Given the description of an element on the screen output the (x, y) to click on. 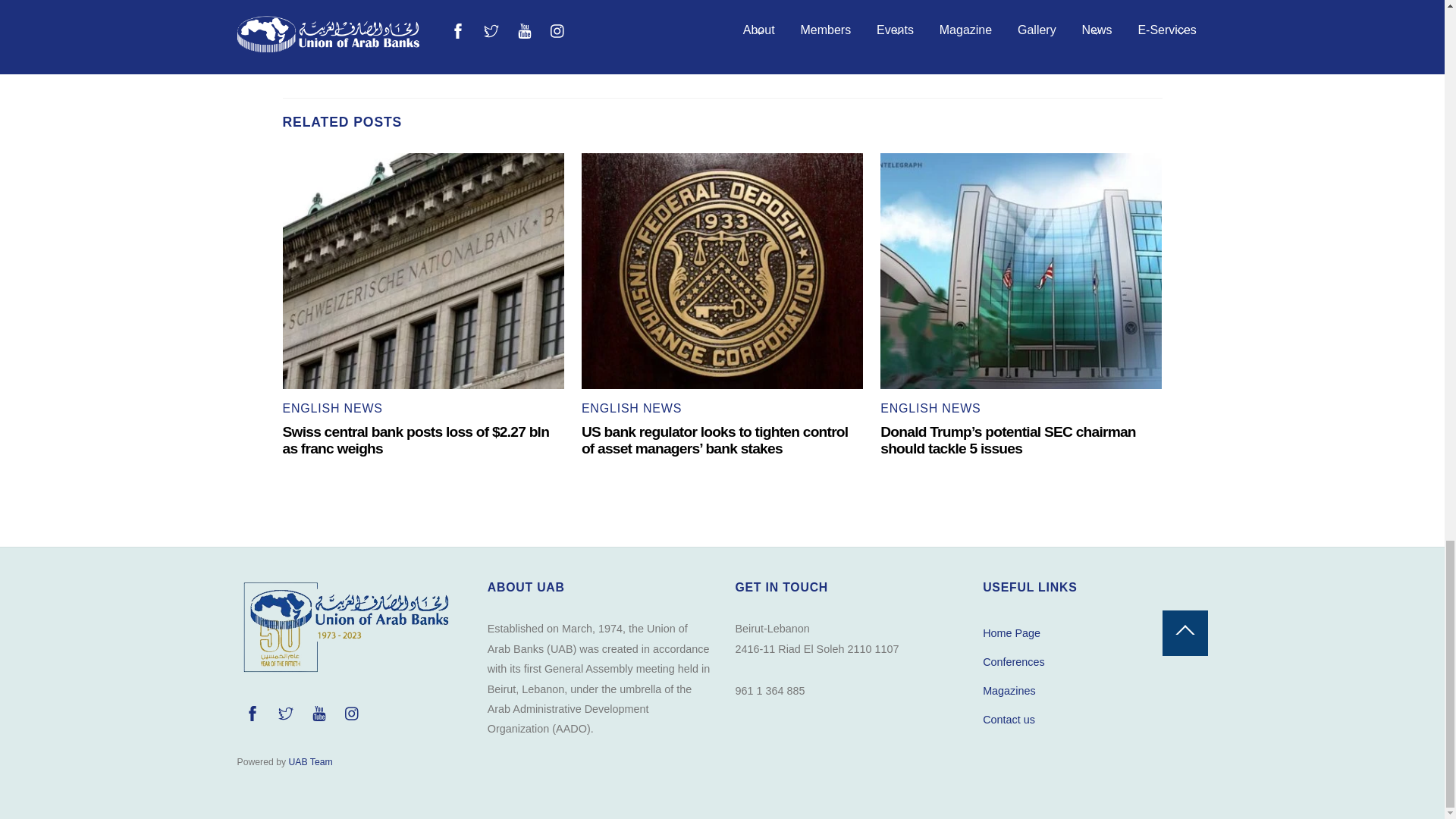
Union of Arab Banks (343, 673)
Donald Trump's potential SEC chairman should tackle 5 issues (1020, 271)
